Given the description of an element on the screen output the (x, y) to click on. 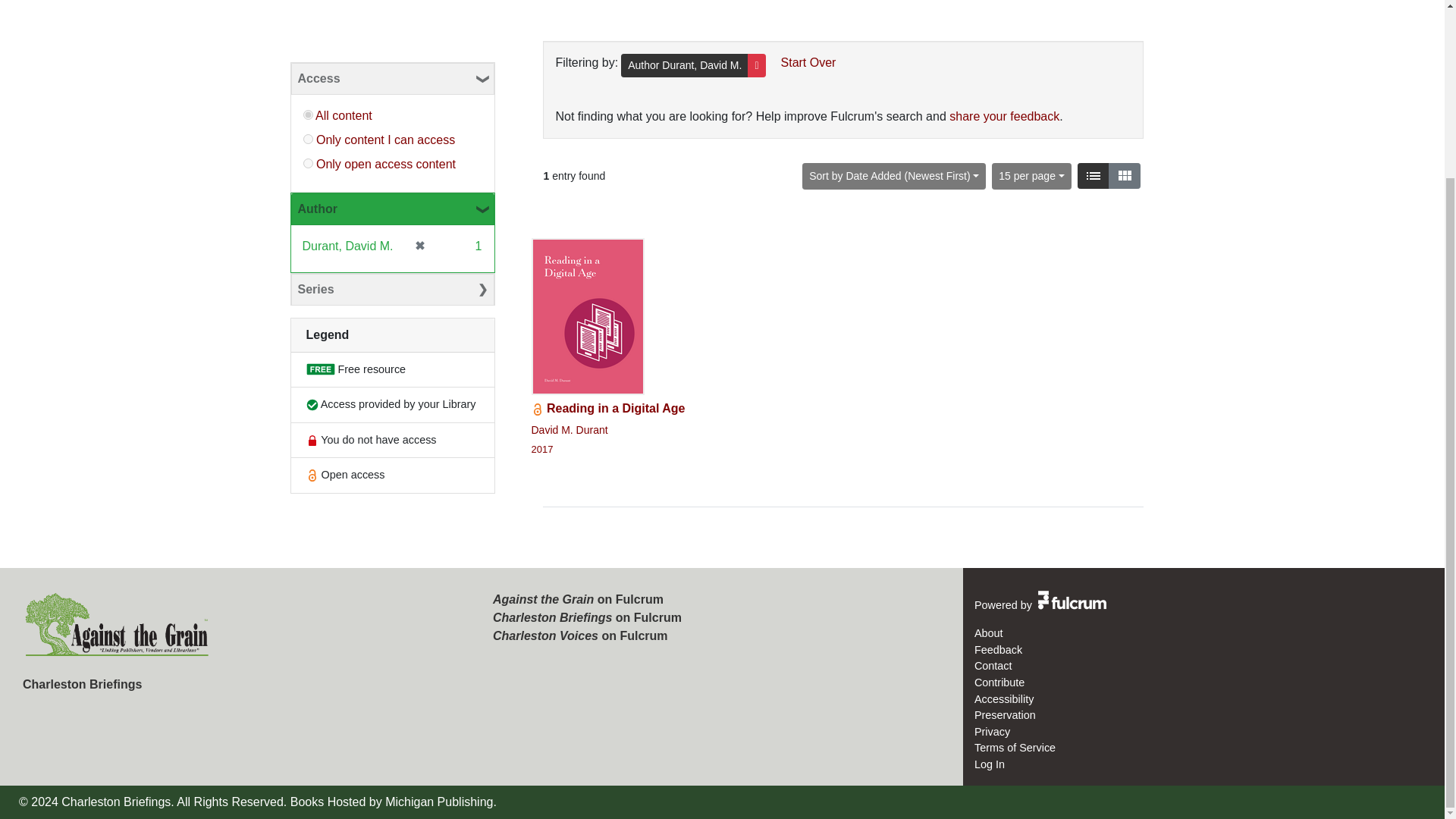
on (607, 347)
Durant, David M. (307, 139)
All content (701, 64)
Access (343, 115)
Start Over (393, 79)
Series (801, 62)
Fulcrum (393, 288)
share your feedback (1070, 605)
List (1004, 115)
Gallery (1092, 175)
Only content I can access (1124, 175)
List (384, 139)
Gallery (1092, 175)
on (1123, 176)
